Given the description of an element on the screen output the (x, y) to click on. 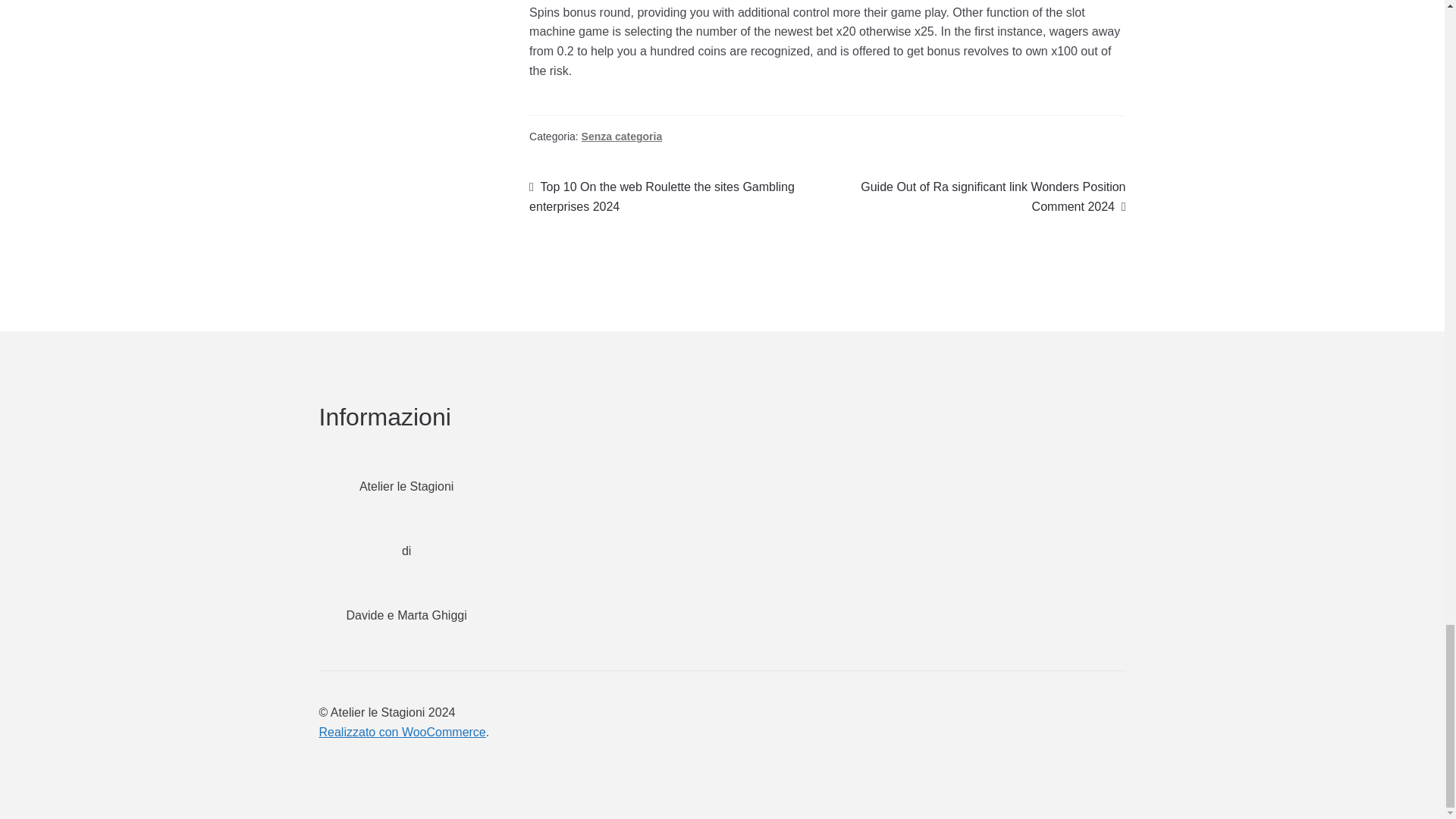
Senza categoria (621, 136)
Realizzato con WooCommerce (402, 731)
